Given the description of an element on the screen output the (x, y) to click on. 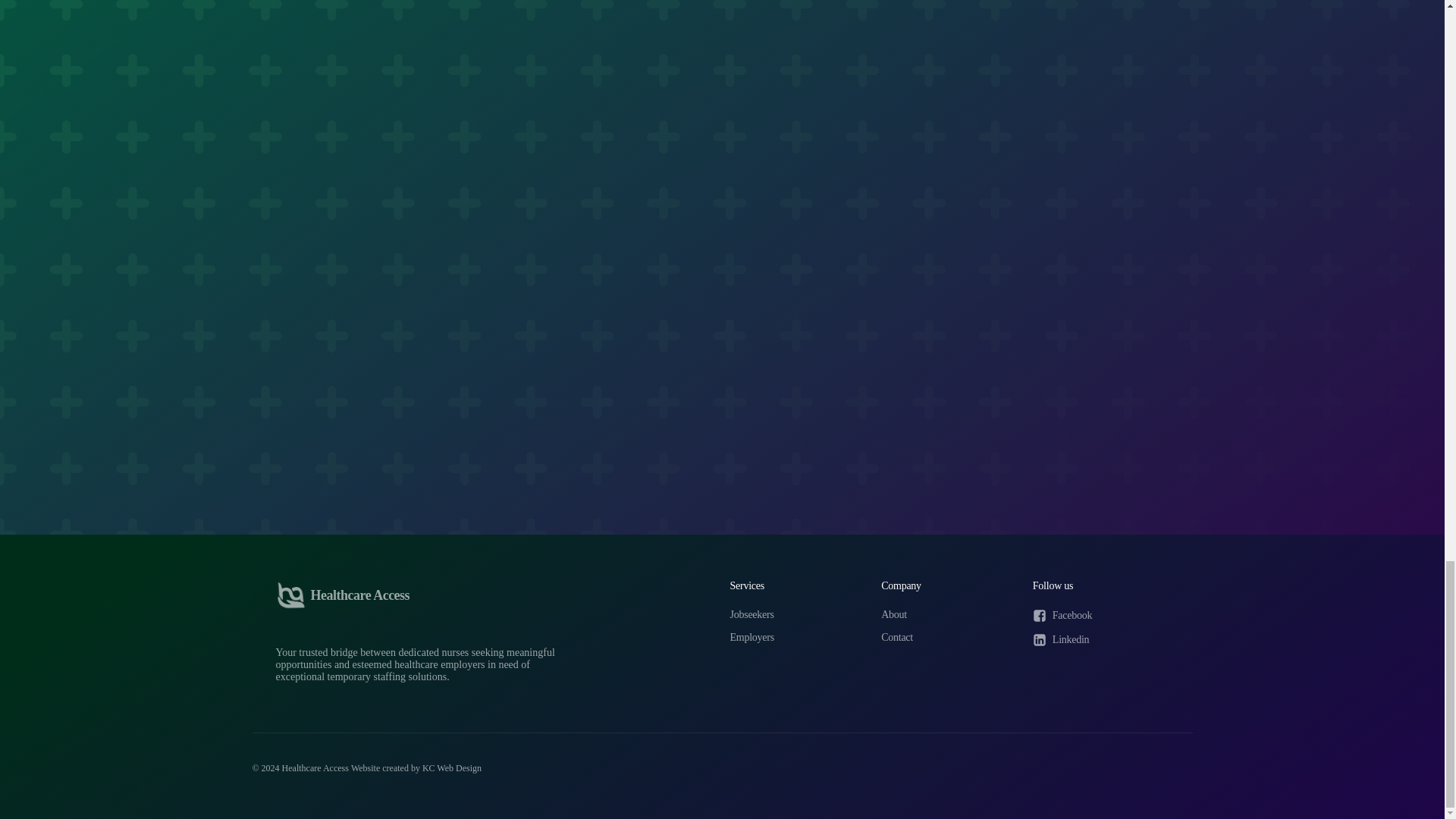
Contact (896, 637)
About (893, 614)
Jobseekers (751, 614)
Employers (751, 637)
Linkedin (1060, 640)
Website created by KC Web Design (415, 768)
Facebook (1062, 615)
Healthcare Access (343, 594)
